Given the description of an element on the screen output the (x, y) to click on. 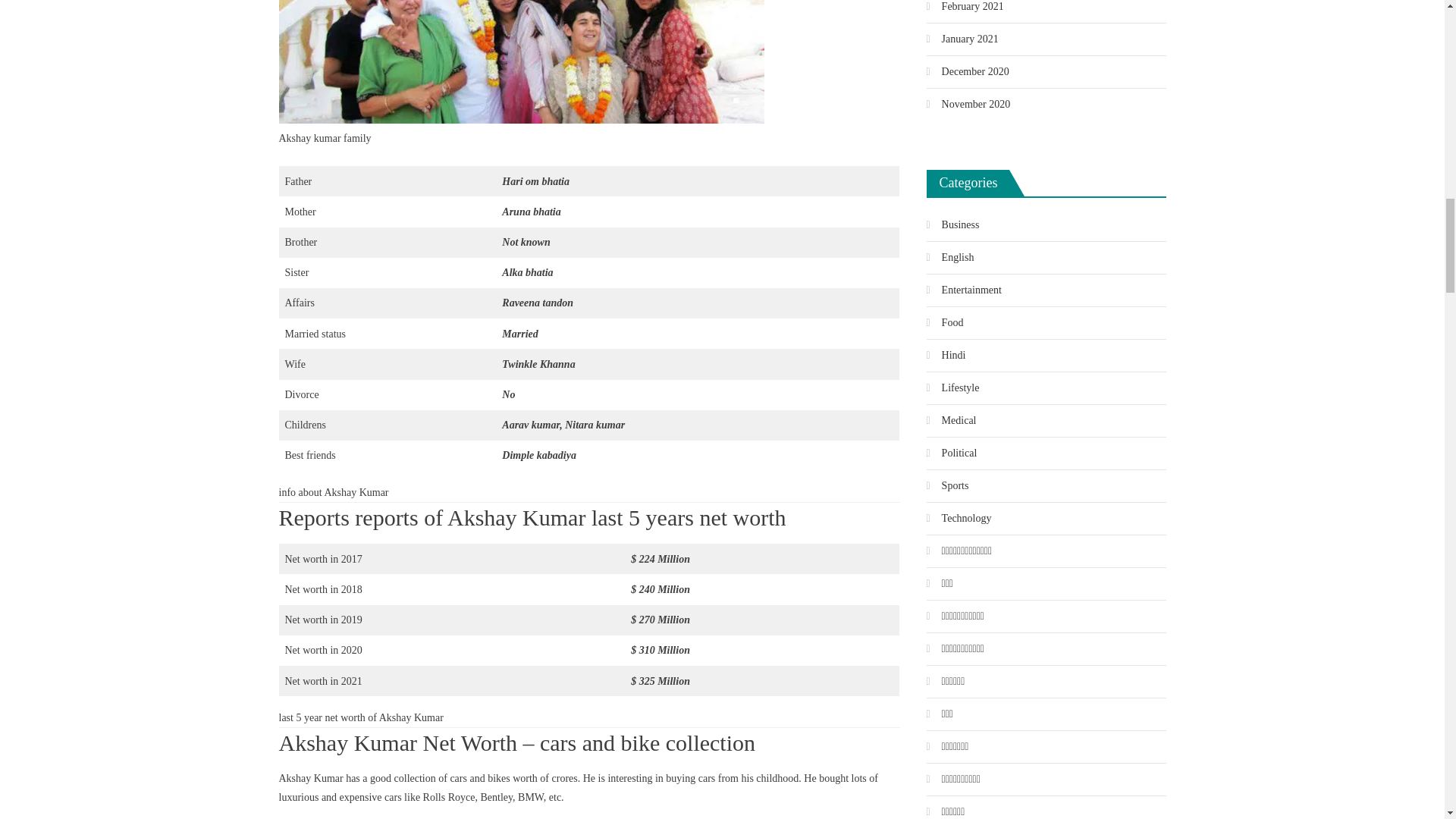
Akshay Kumar Net worth (521, 61)
